Given the description of an element on the screen output the (x, y) to click on. 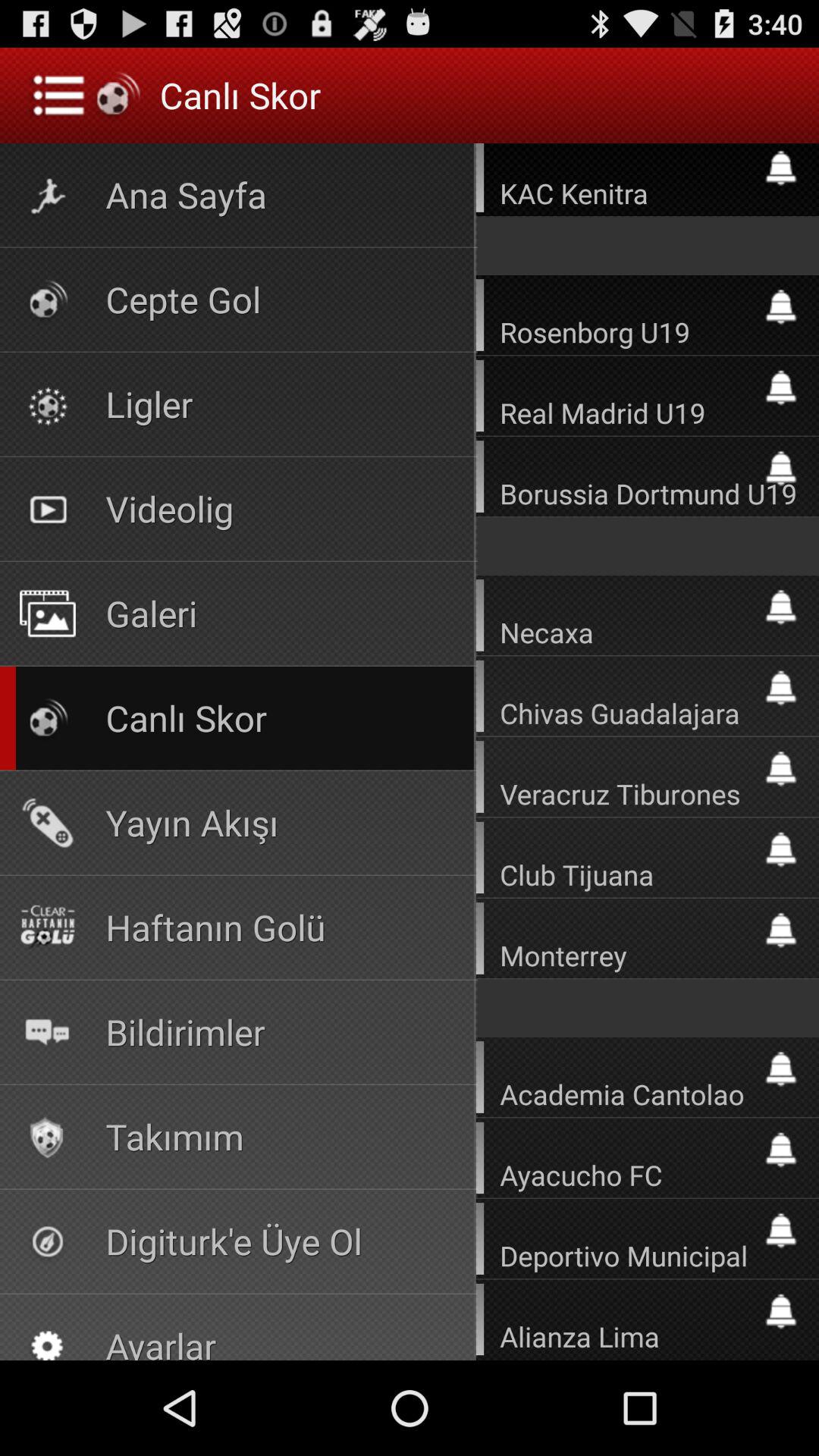
click on bell icon which is right to the text clubtijuana (780, 849)
